Given the description of an element on the screen output the (x, y) to click on. 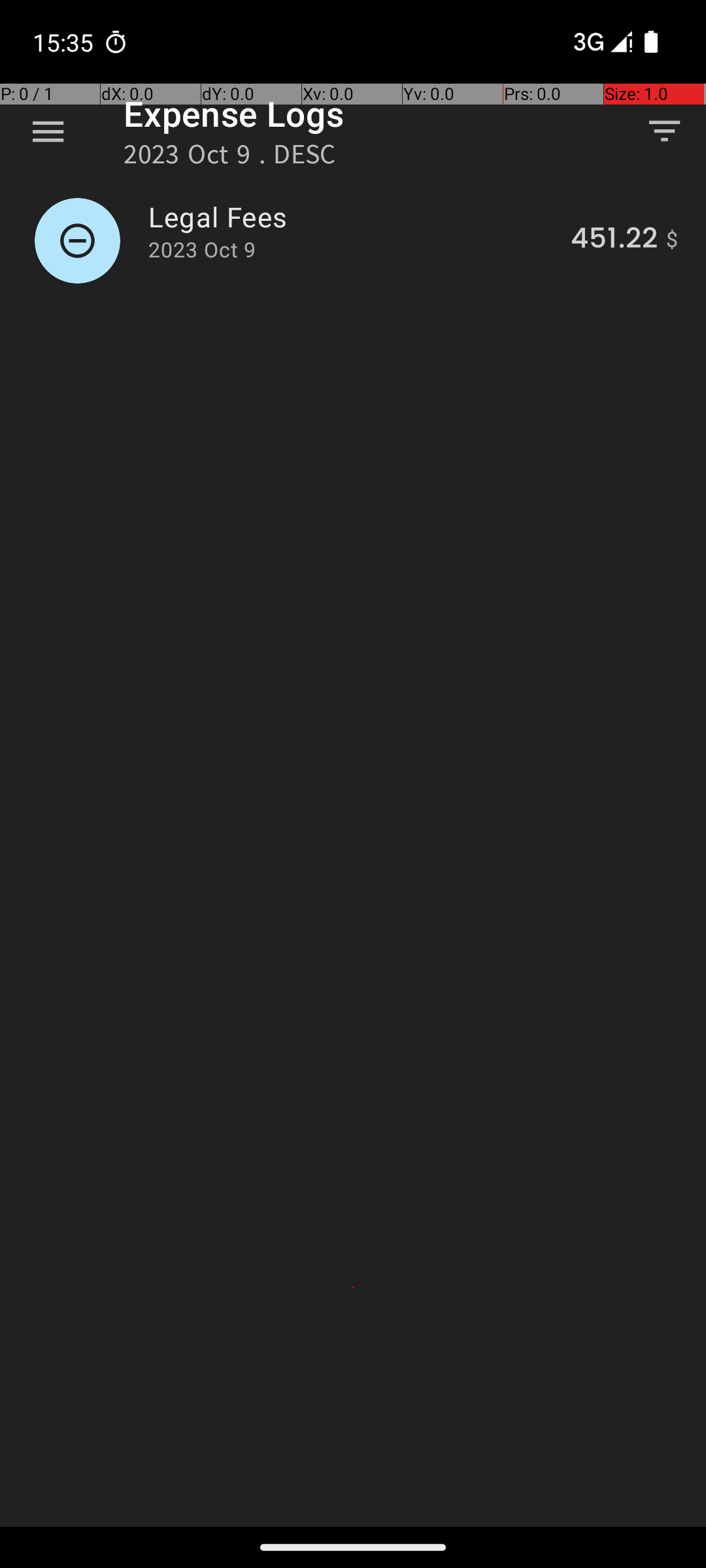
2023 Oct 9 . DESC Element type: android.widget.TextView (229, 157)
Legal Fees Element type: android.widget.TextView (351, 216)
451.22 Element type: android.widget.TextView (614, 240)
